Given the description of an element on the screen output the (x, y) to click on. 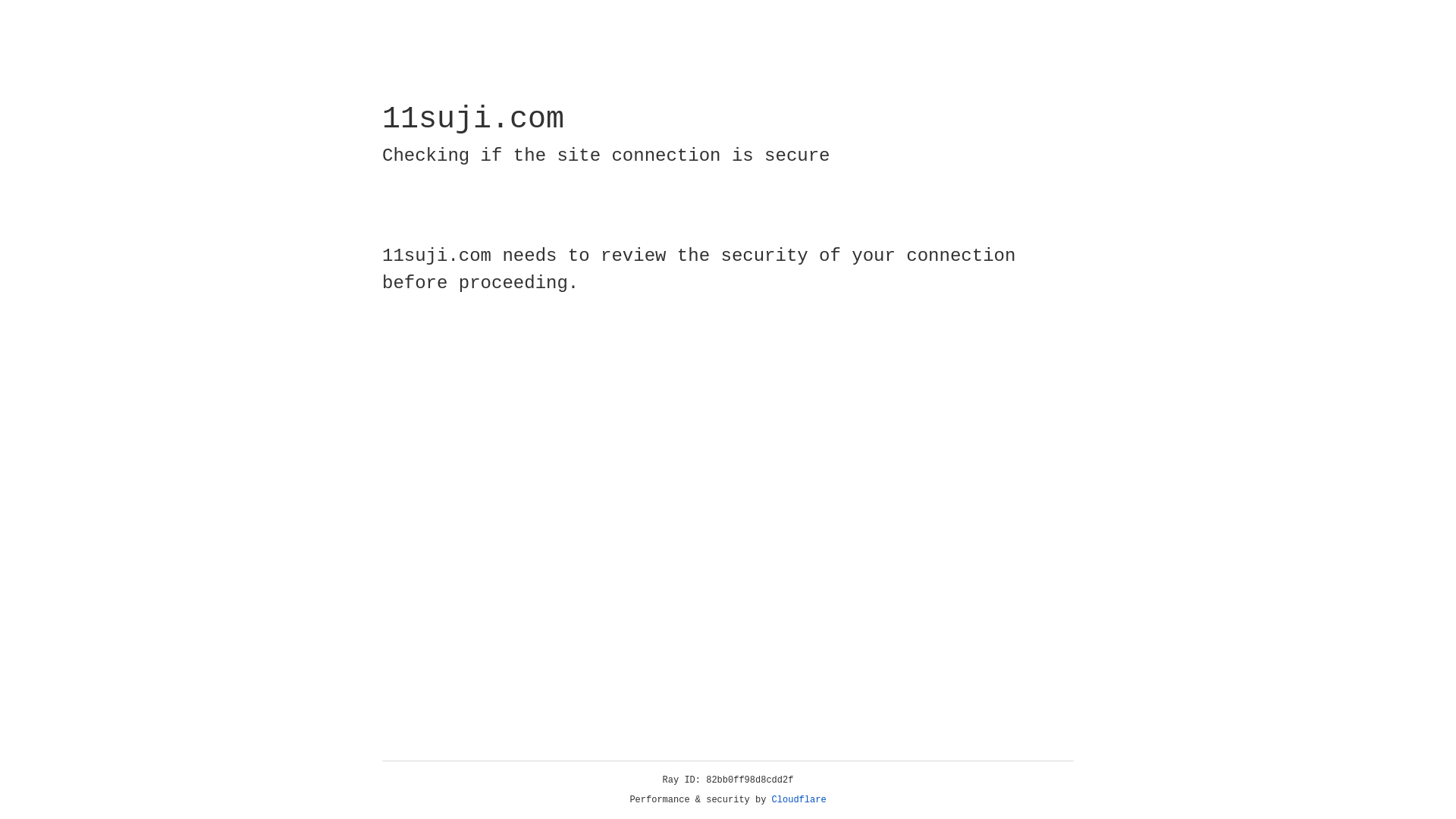
Cloudflare Element type: text (798, 799)
